Given the description of an element on the screen output the (x, y) to click on. 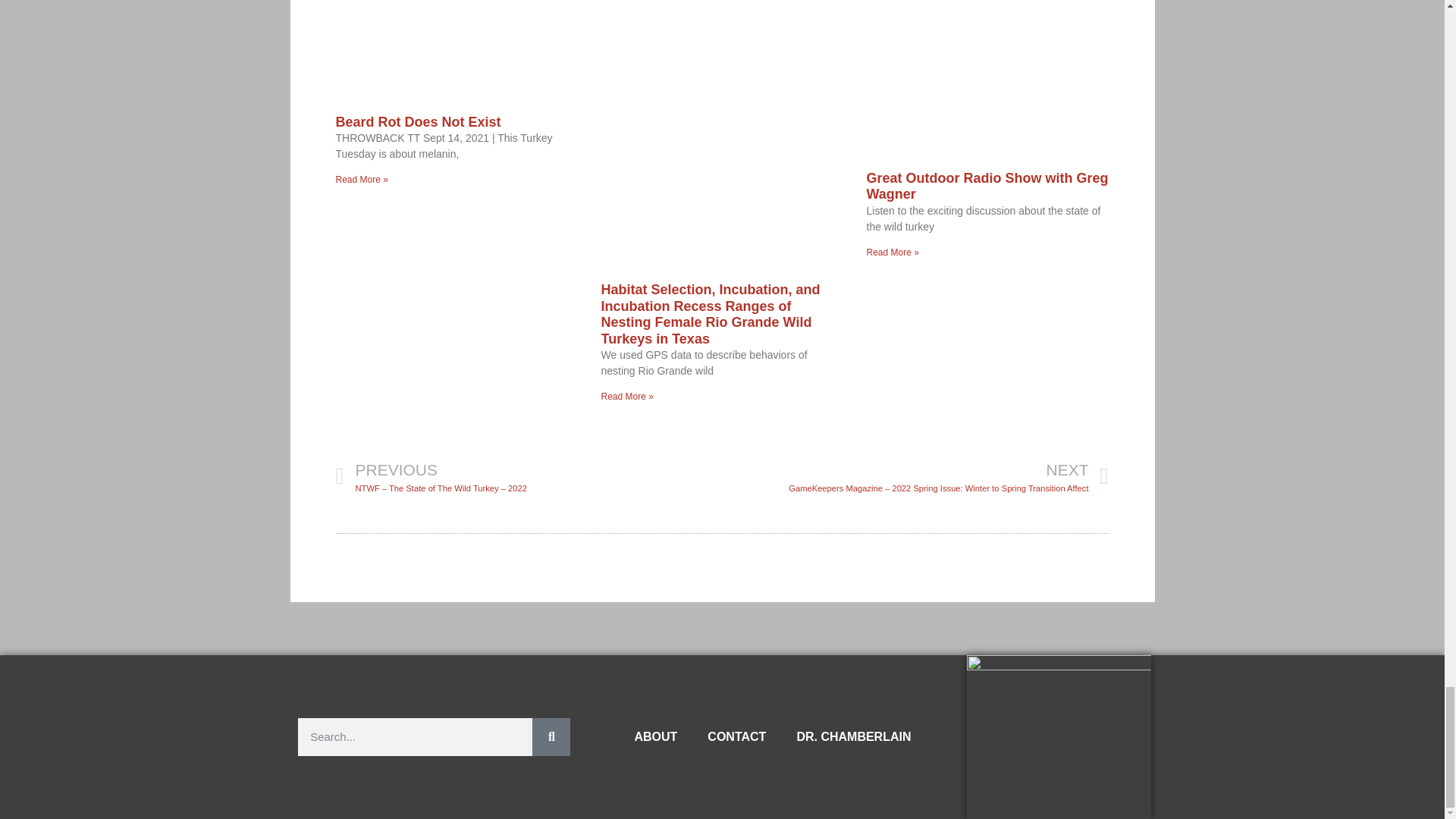
ABOUT (655, 736)
Beard Rot Does Not Exist (417, 121)
Great Outdoor Radio Show with Greg Wagner (987, 186)
CONTACT (736, 736)
DR. CHAMBERLAIN (853, 736)
